Given the description of an element on the screen output the (x, y) to click on. 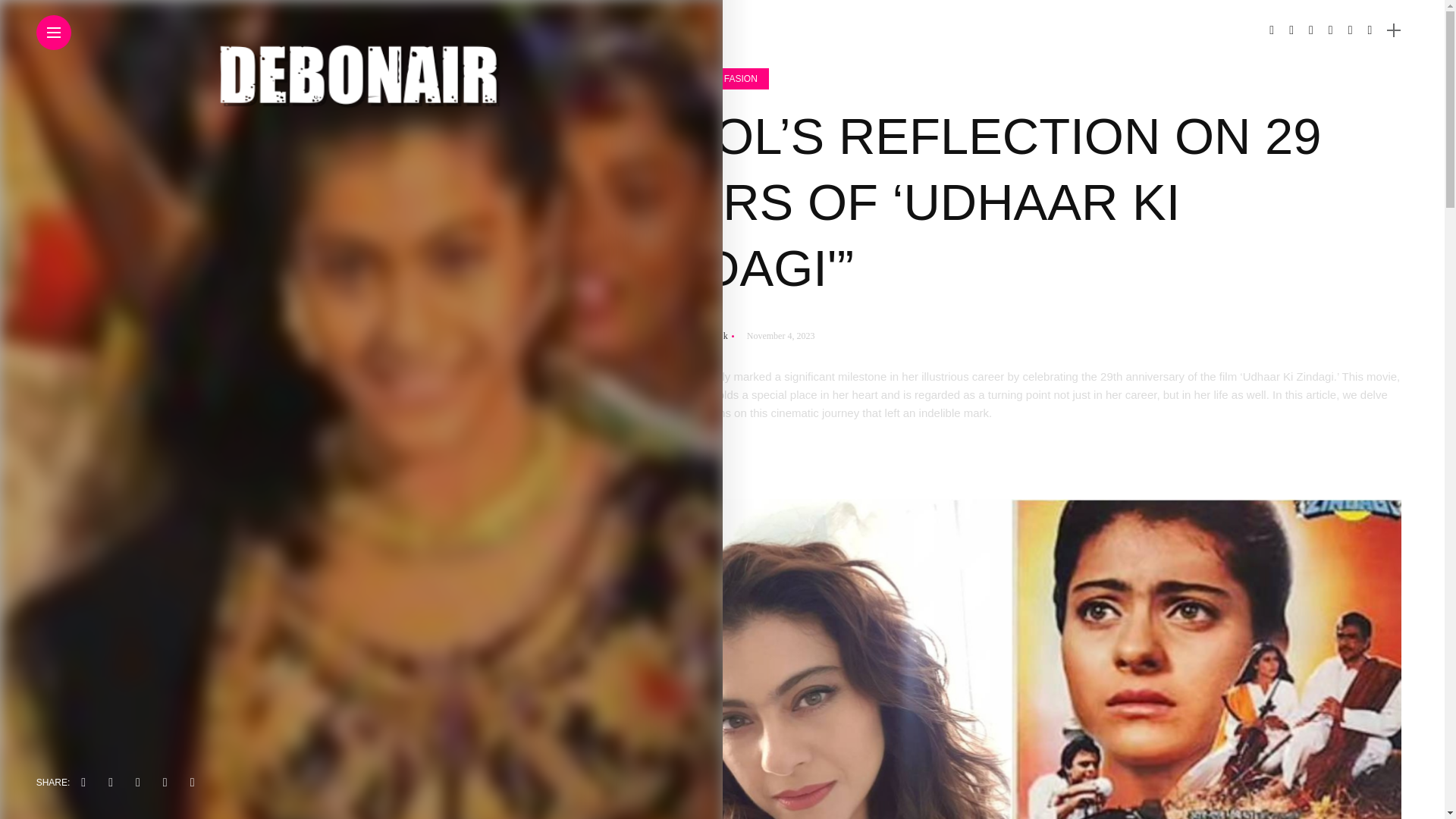
Posts by Editorial Desk (697, 335)
Editorial Desk (697, 335)
